Given the description of an element on the screen output the (x, y) to click on. 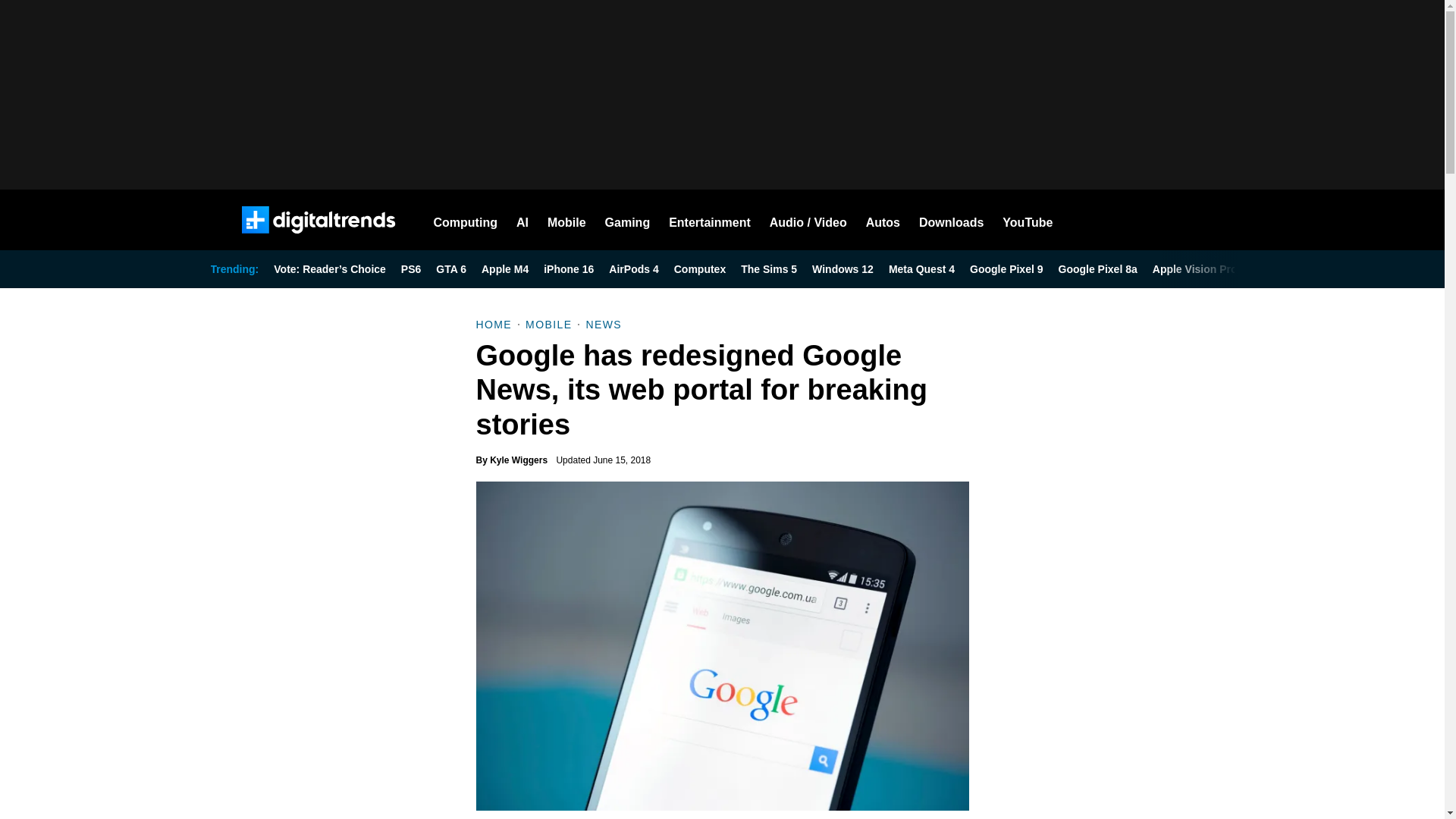
Downloads (951, 219)
Computing (465, 219)
Entertainment (709, 219)
